Given the description of an element on the screen output the (x, y) to click on. 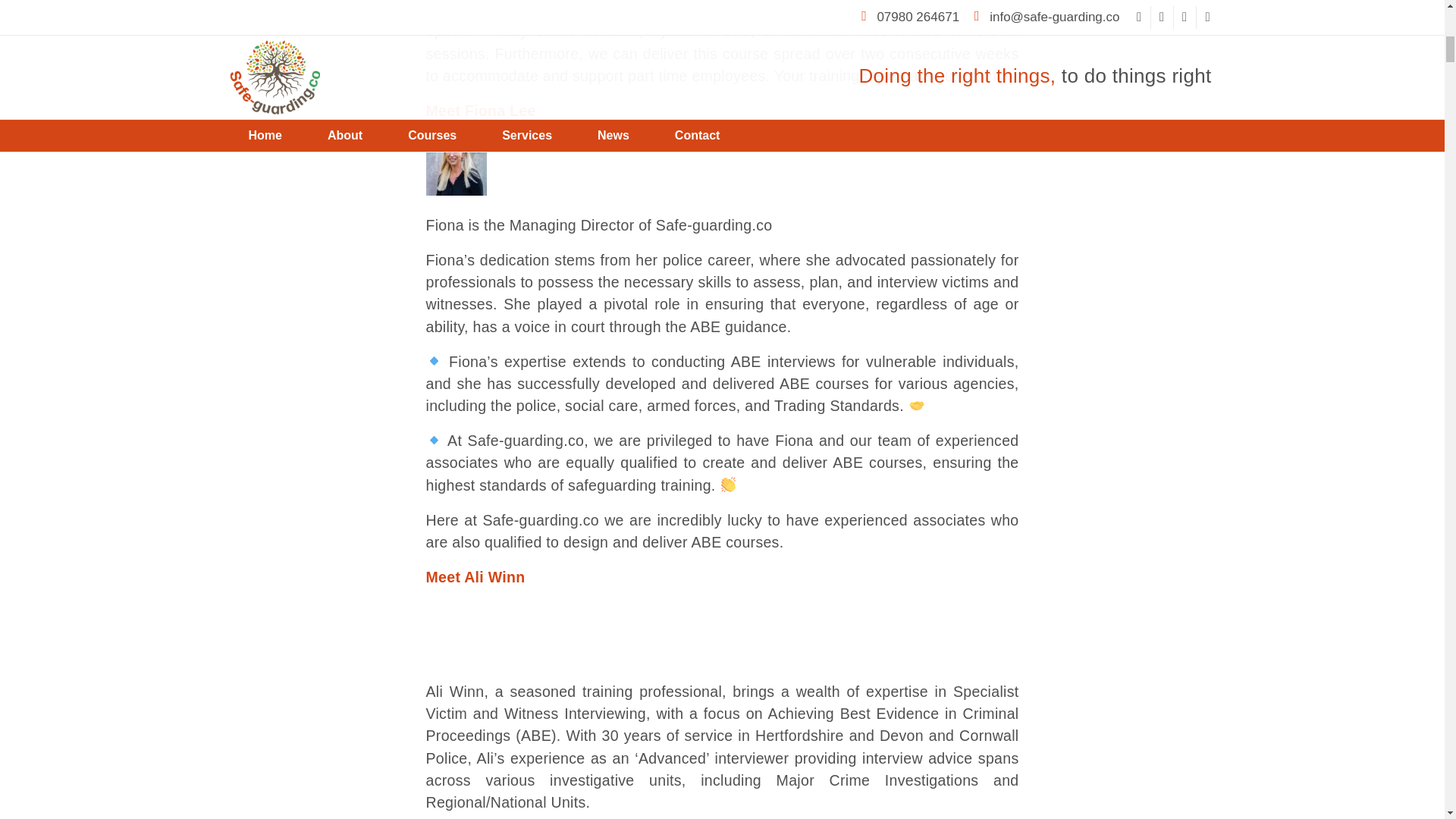
Meet Ali Winn (475, 576)
Meet Fiona Lee (480, 110)
